Given the description of an element on the screen output the (x, y) to click on. 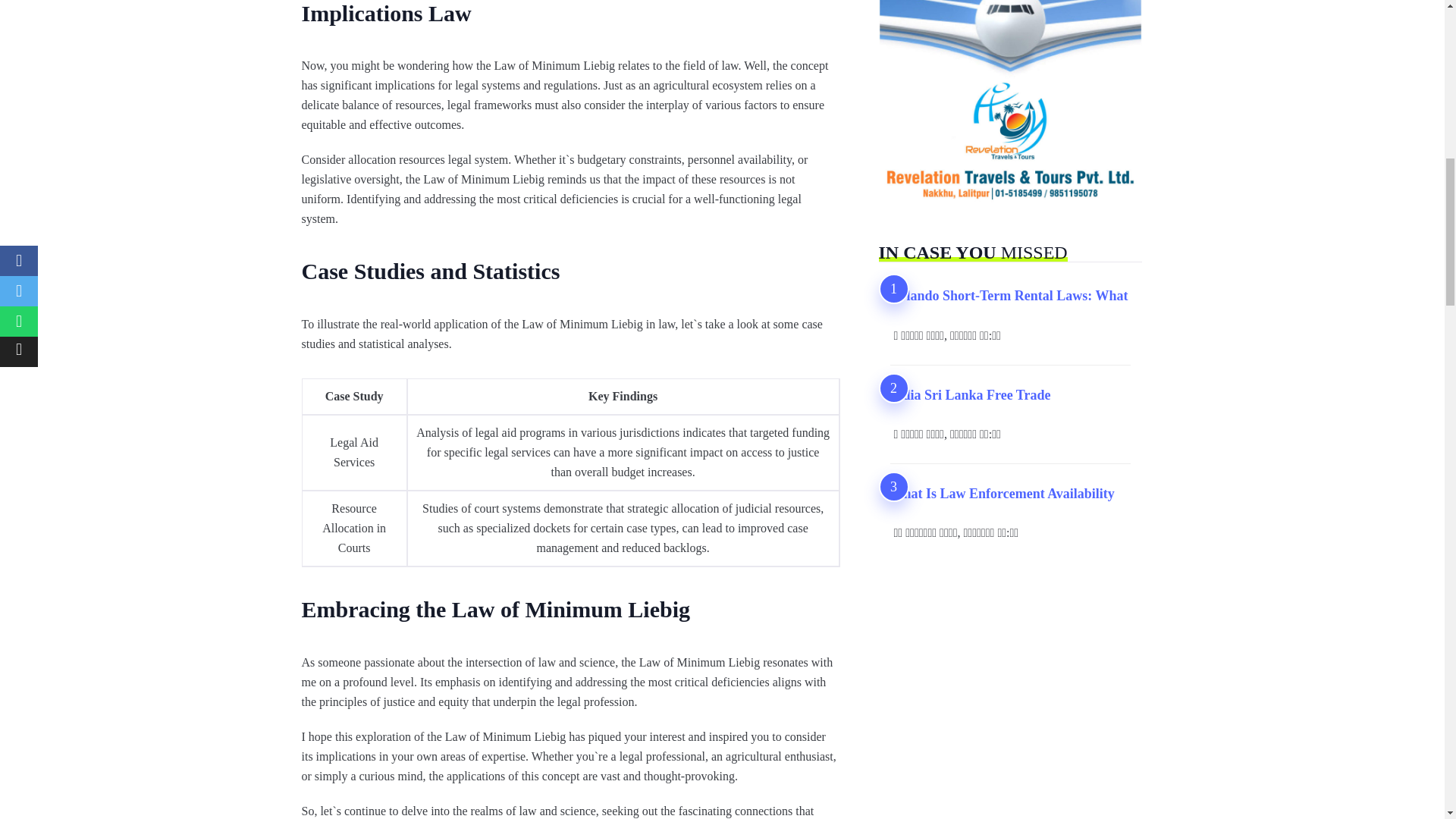
India Sri Lanka Free Trade Agreement: Benefits and Impact (970, 395)
Orlando Short-Term Rental Laws: What You Need to Know (1008, 296)
India Sri Lanka Free Trade (970, 395)
Orlando Short-Term Rental Laws: What (1008, 296)
What Is Law Enforcement Availability (1002, 494)
